Given the description of an element on the screen output the (x, y) to click on. 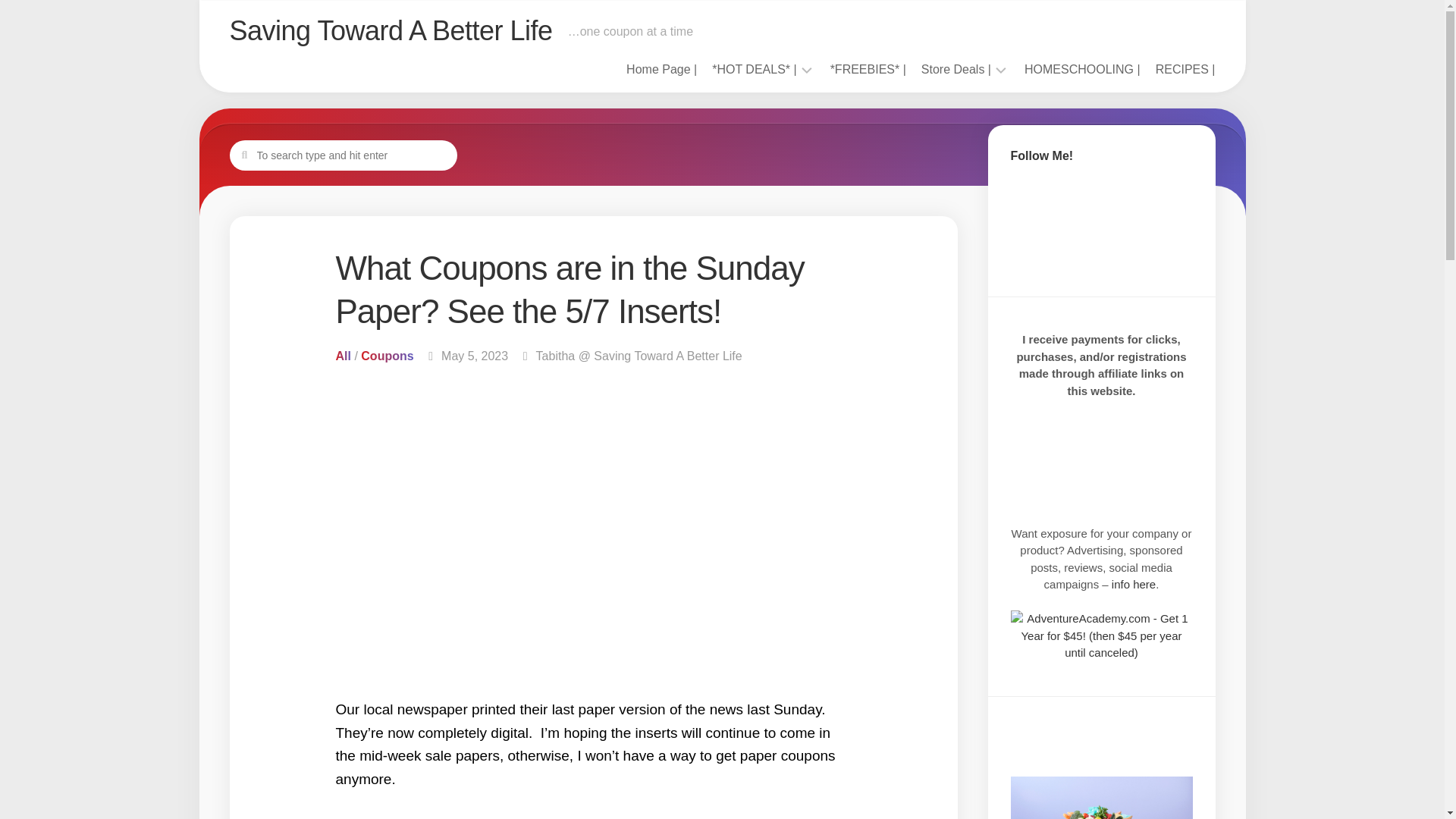
Coupons (387, 355)
To search type and hit enter (342, 154)
Saving Toward A Better Life (389, 31)
All (342, 355)
To search type and hit enter (342, 154)
Home (661, 69)
Store Deals (956, 69)
